Given the description of an element on the screen output the (x, y) to click on. 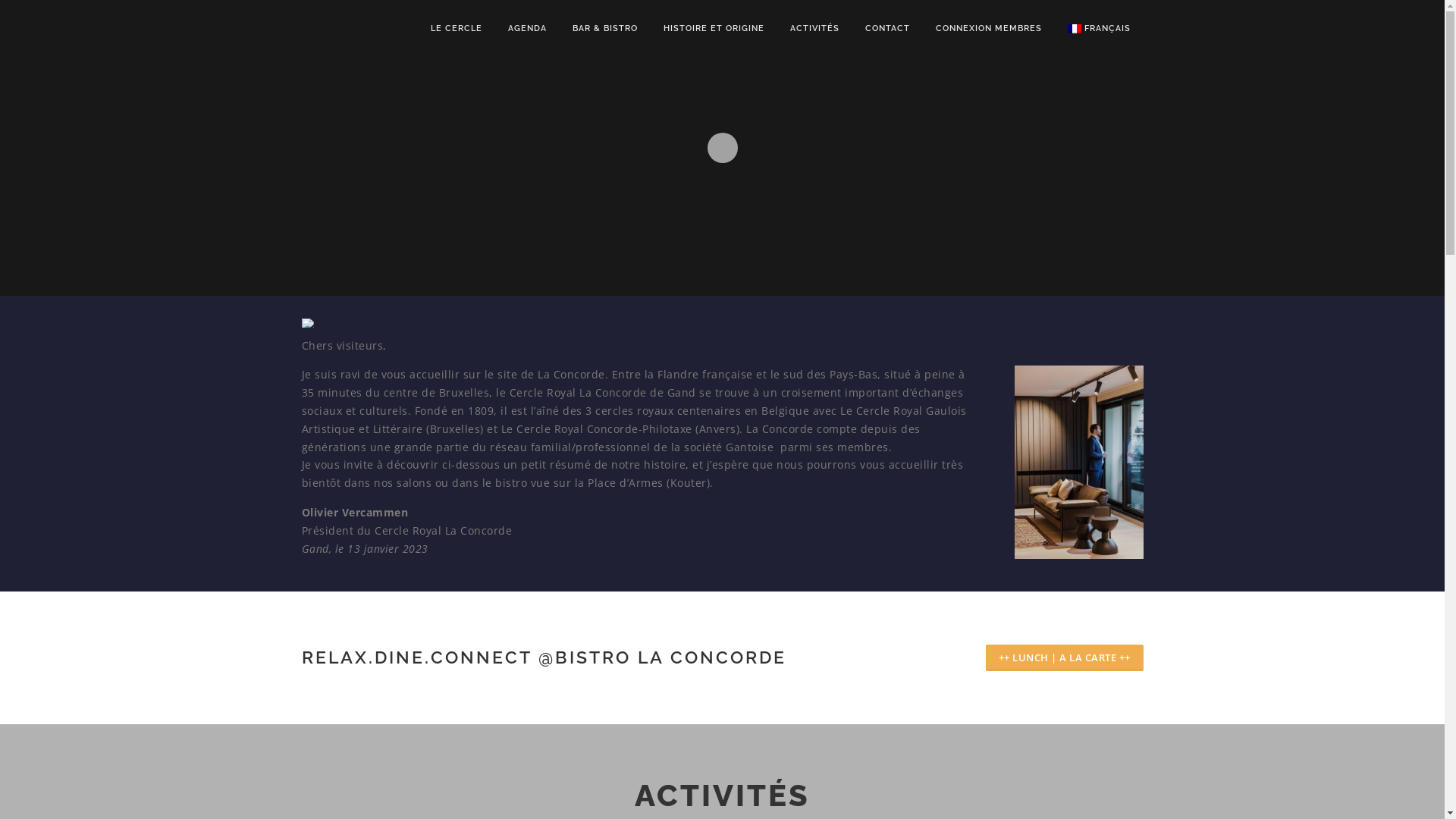
Aller au contenu Element type: text (45, 9)
AGENDA Element type: text (527, 28)
HISTOIRE ET ORIGINE Element type: text (713, 28)
LE CERCLE Element type: text (456, 28)
CONTACT Element type: text (887, 28)
CONNEXION MEMBRES Element type: text (988, 28)
++ LUNCH | A LA CARTE ++ Element type: text (1064, 657)
BAR & BISTRO Element type: text (604, 28)
